Given the description of an element on the screen output the (x, y) to click on. 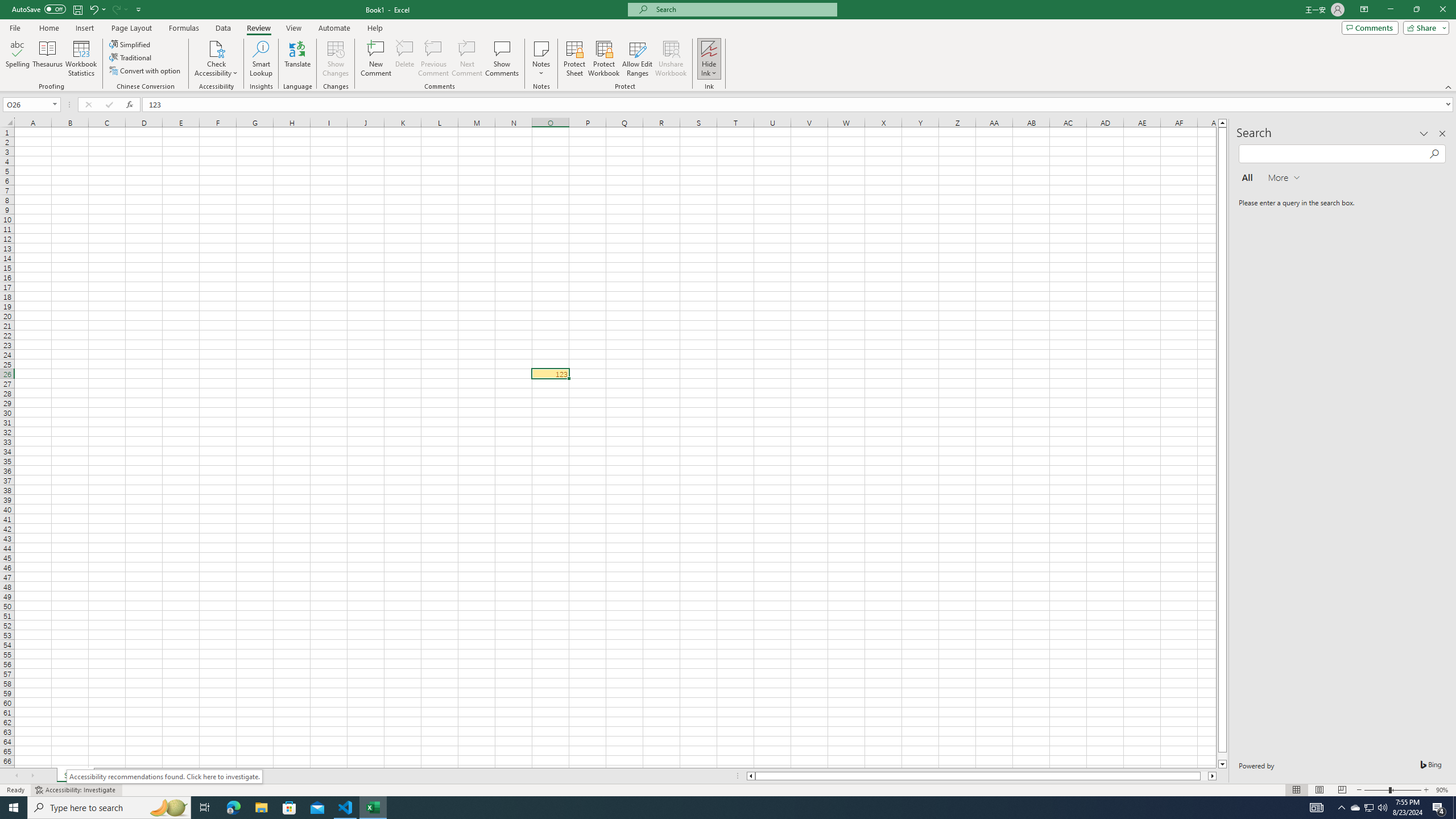
Allow Edit Ranges (637, 58)
